Given the description of an element on the screen output the (x, y) to click on. 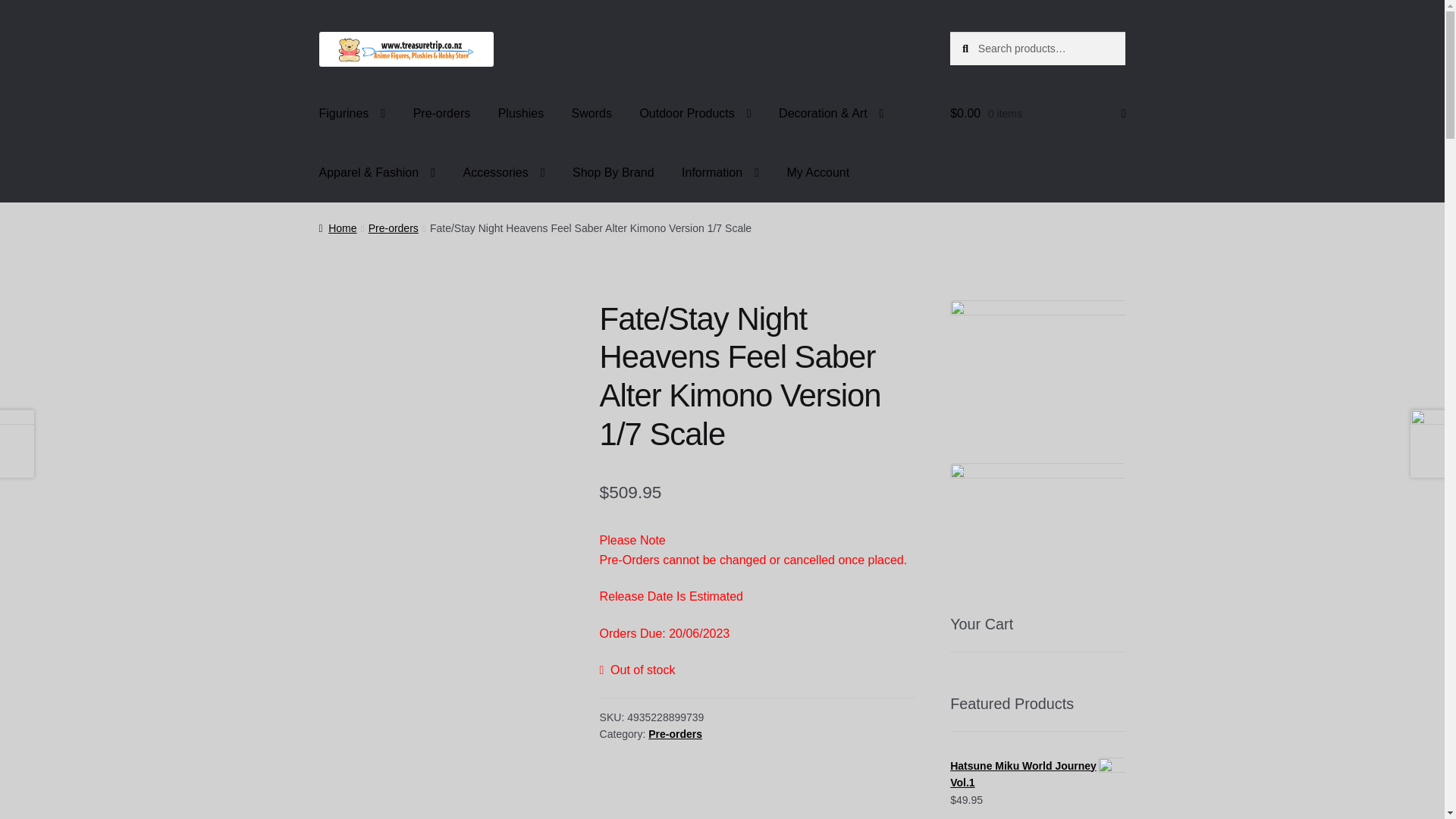
Accessories (502, 172)
Shop By Brand (613, 172)
Plushies (521, 113)
Figurines (352, 113)
Swords (591, 113)
Pre-orders (442, 113)
Information (720, 172)
View your shopping cart (1037, 113)
Outdoor Products (694, 113)
